Given the description of an element on the screen output the (x, y) to click on. 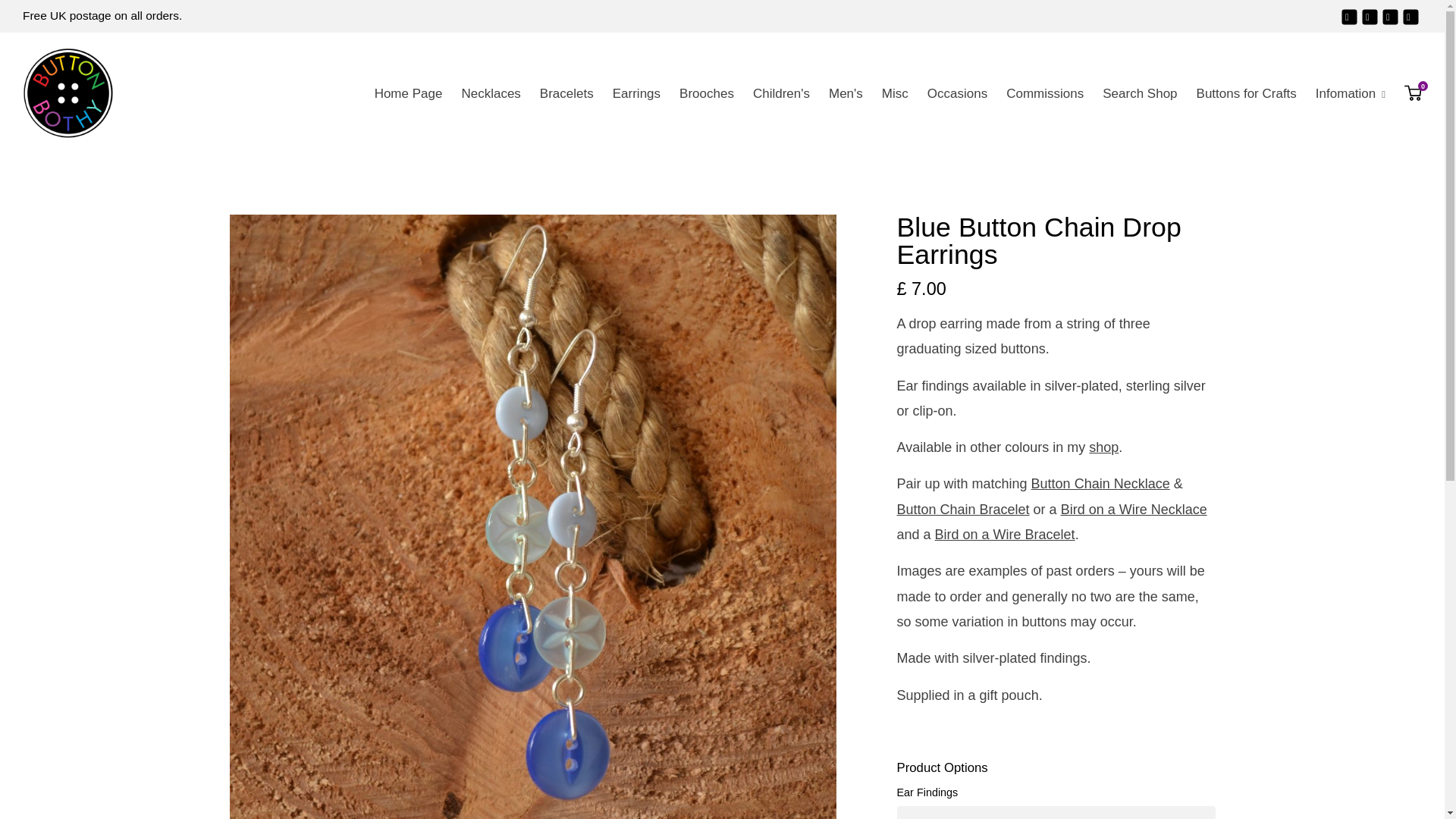
Bird on a Wire Bracelet (1004, 534)
shop (1103, 447)
Children's (780, 93)
Bracelets (566, 93)
Commissions (1044, 93)
Button Chain Bracelet (962, 509)
Home Page (407, 93)
Search Shop (1139, 93)
Misc (895, 93)
Buttons for Crafts (1246, 93)
Occasions (957, 93)
Necklaces (489, 93)
Brooches (706, 93)
Earrings (636, 93)
